Given the description of an element on the screen output the (x, y) to click on. 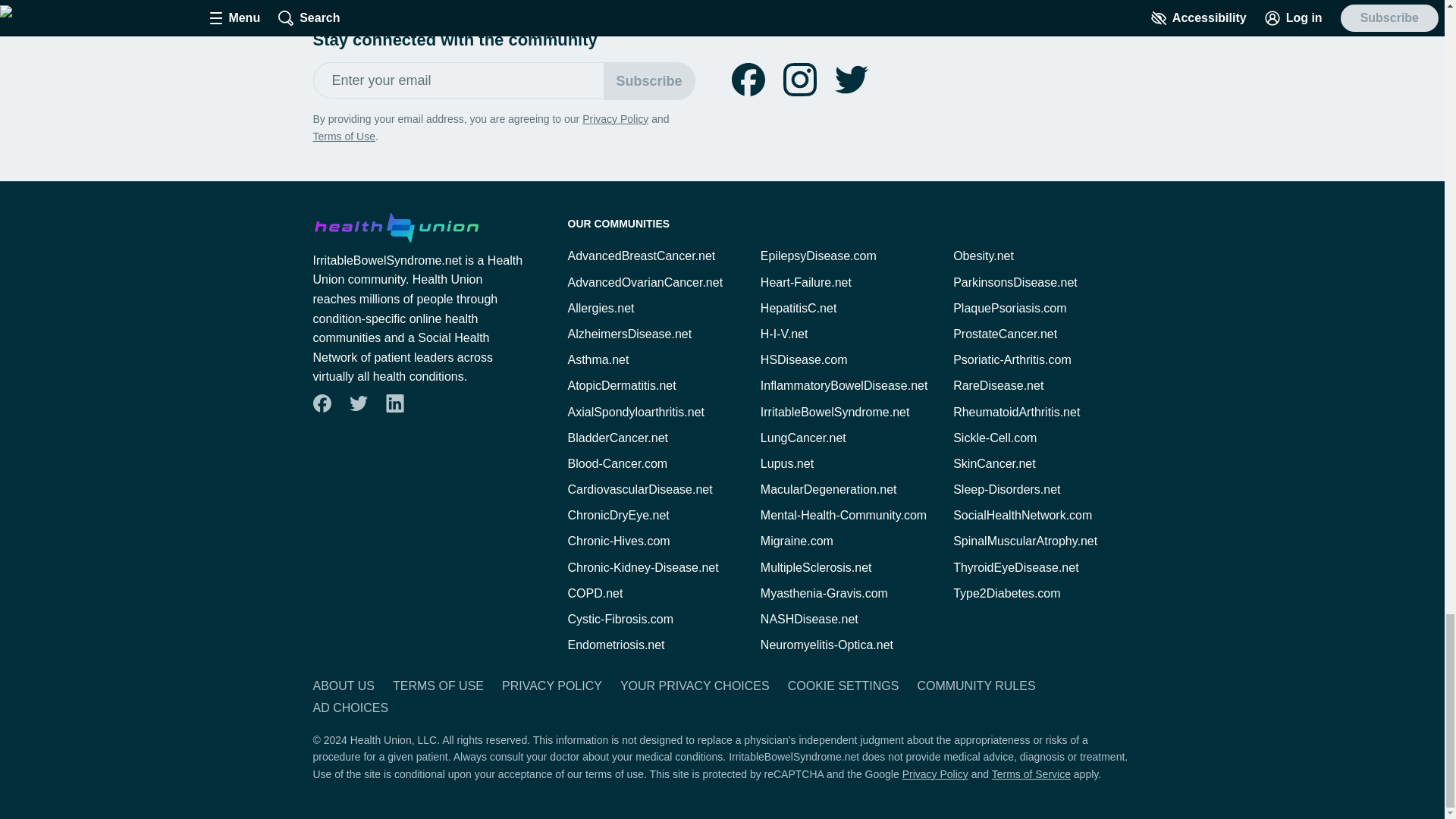
Follow us on instagram (799, 79)
Follow us on facebook (747, 79)
Follow us on twitter (850, 79)
Terms of Use (343, 136)
Follow us on facebook (747, 79)
Follow us on facebook (320, 403)
Follow us on instagram (799, 79)
Follow us on facebook (321, 402)
Subscribe (649, 80)
Privacy Policy (614, 119)
